Given the description of an element on the screen output the (x, y) to click on. 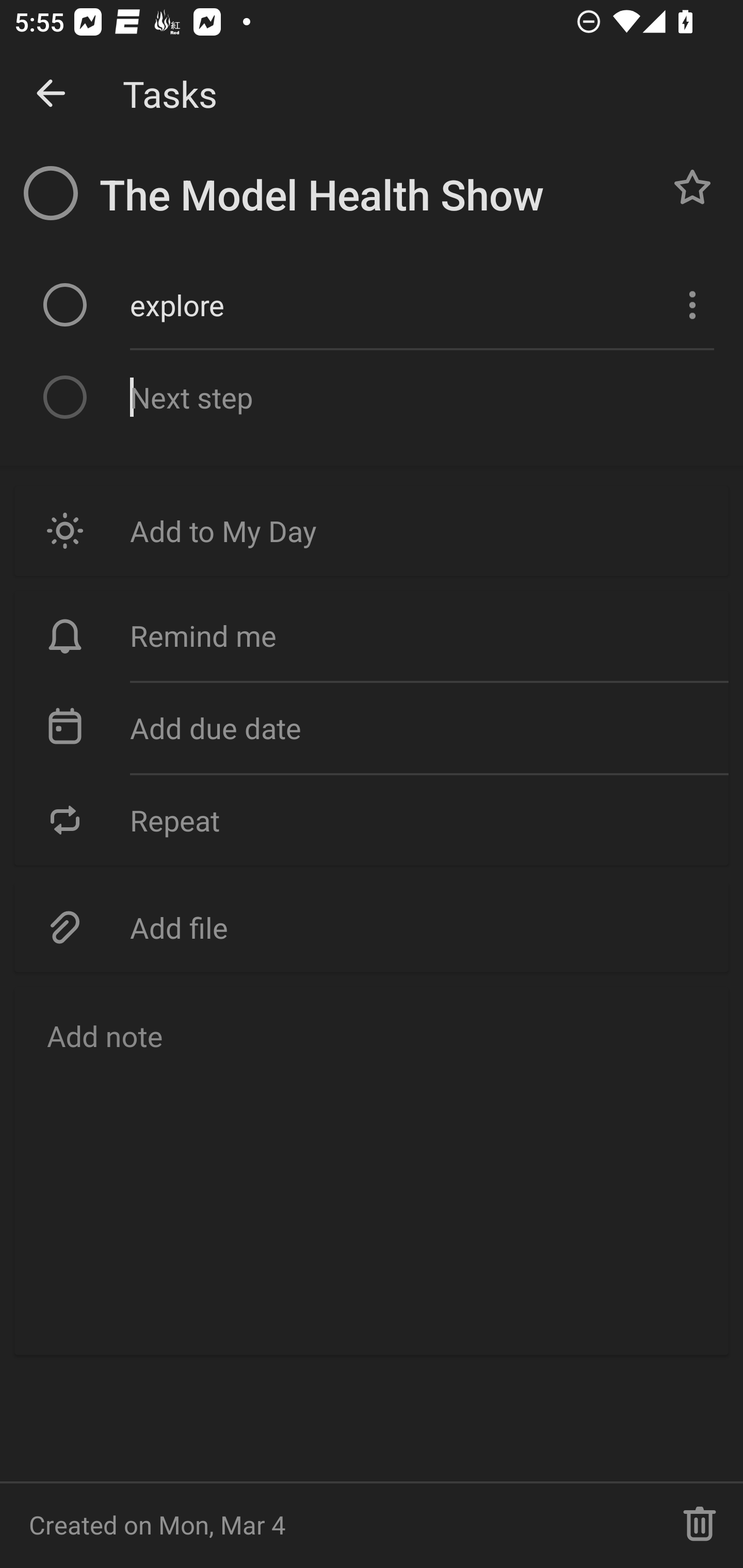
Dismiss detail view (50, 93)
Incomplete task The Model Health Show, Button (50, 192)
The Model Health Show (374, 195)
Normal task The Model Health Show, Button (692, 187)
explore (393, 304)
More Options (690, 304)
Uncompleted, explore, step, Button (64, 304)
Next step (422, 396)
Add to My Day (371, 530)
Remind me (371, 635)
Add due date (371, 728)
Repeat (371, 819)
Add file (371, 926)
Add note, Button Email Renderer Add note (371, 1170)
Delete task (699, 1524)
